Given the description of an element on the screen output the (x, y) to click on. 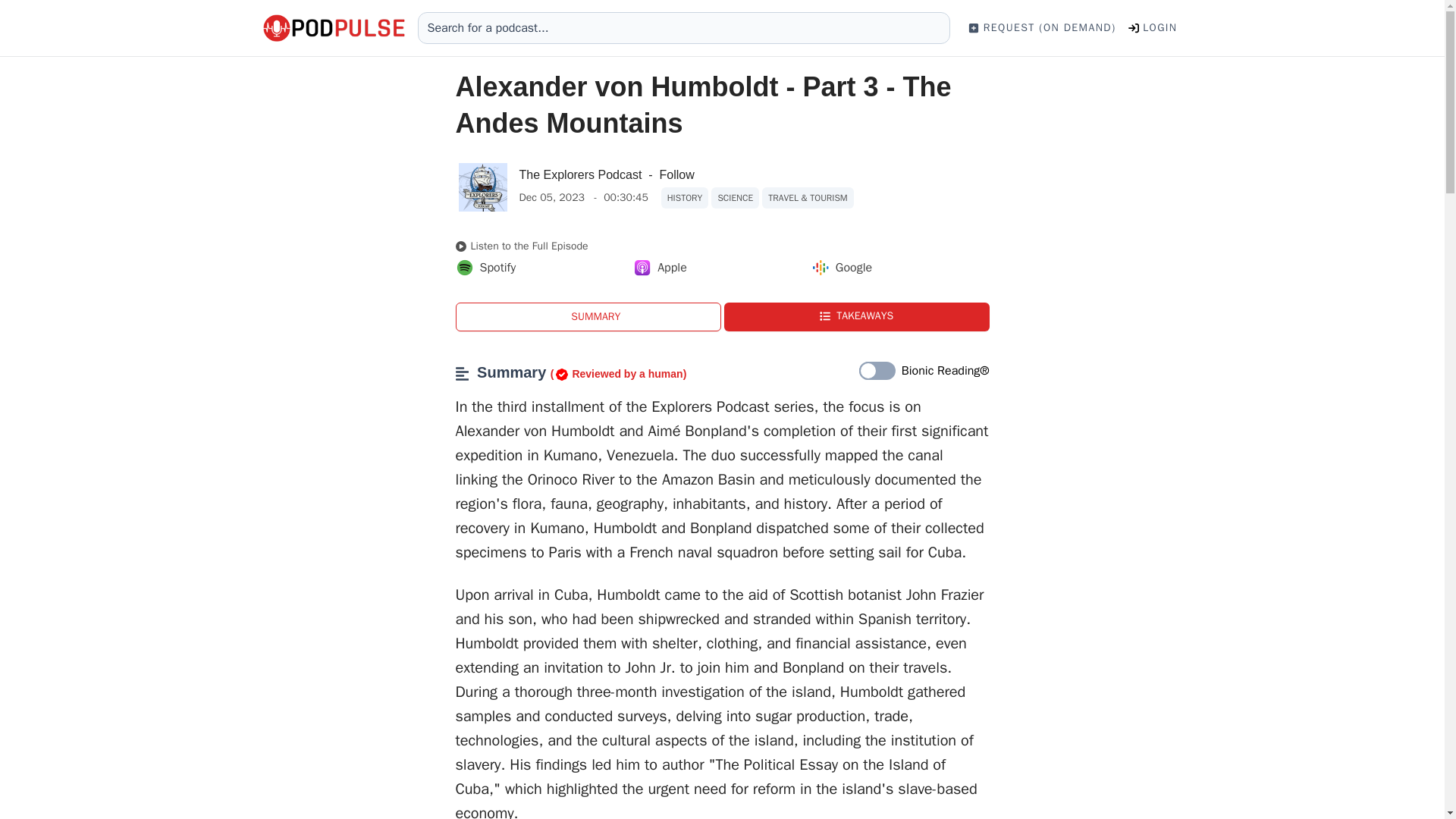
Apple (660, 267)
Follow (676, 175)
 TAKEAWAYS (855, 316)
on (877, 371)
Spotify (484, 267)
HISTORY (685, 197)
The Explorers Podcast (580, 174)
Google (841, 267)
 SUMMARY (587, 316)
SCIENCE (734, 197)
LOGIN (1152, 27)
